Given the description of an element on the screen output the (x, y) to click on. 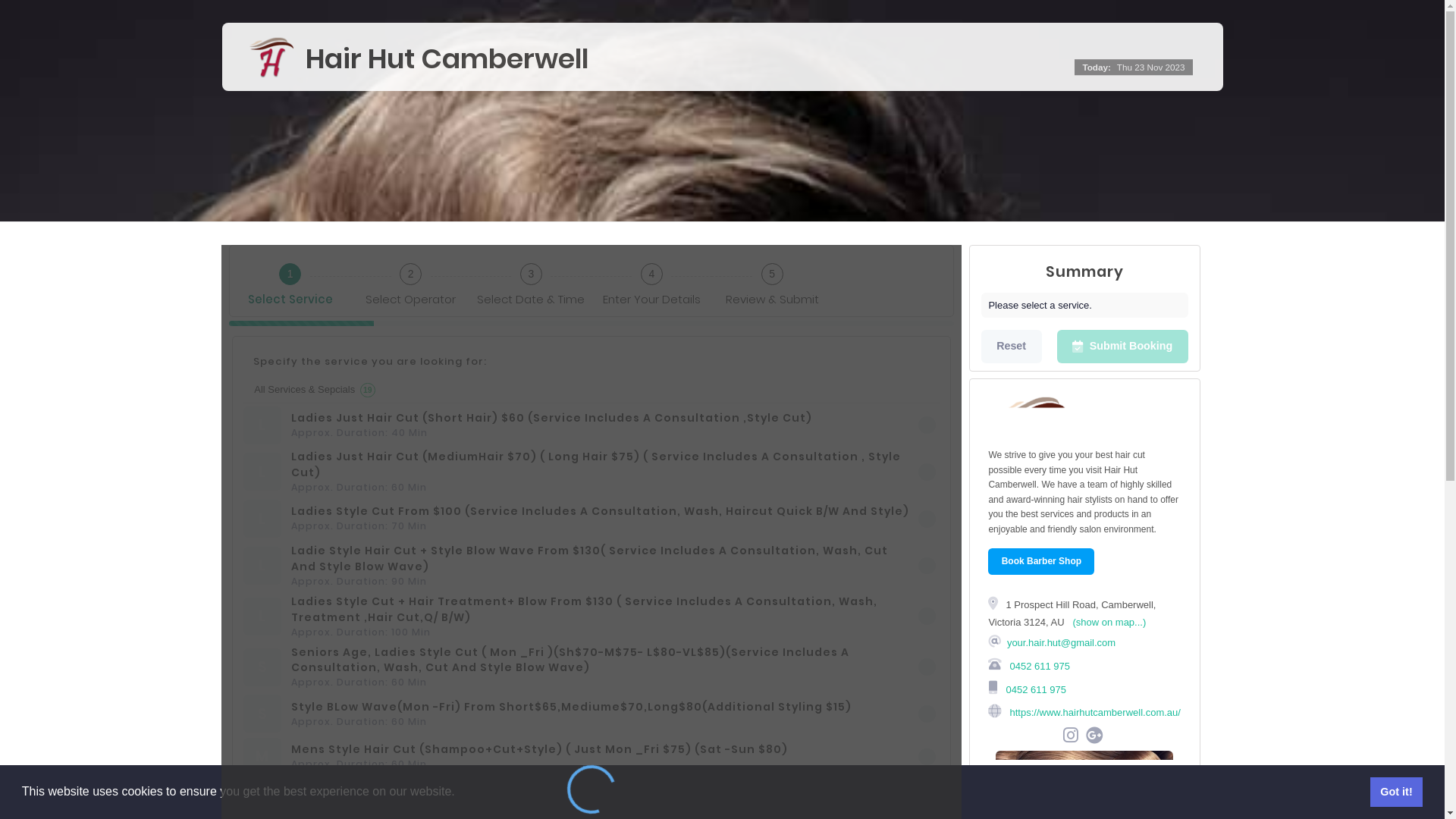
your.hair.hut@gmail.com Element type: text (1061, 642)
(show on map...) Element type: text (1108, 621)
Book Barber Shop Element type: text (1041, 561)
3
Select Date & Time Element type: text (530, 280)
Got it! Element type: text (1396, 791)
5
Review & Submit Element type: text (772, 280)
1
Select Service Element type: text (289, 280)
Submit Booking Element type: text (1122, 346)
Reset Element type: text (1011, 346)
0452 611 975 Element type: text (1034, 688)
4
Enter Your Details Element type: text (651, 280)
2
Select Operator Element type: text (410, 280)
https://www.hairhutcamberwell.com.au/ Element type: text (1093, 712)
0452 611 975 Element type: text (1038, 665)
